Given the description of an element on the screen output the (x, y) to click on. 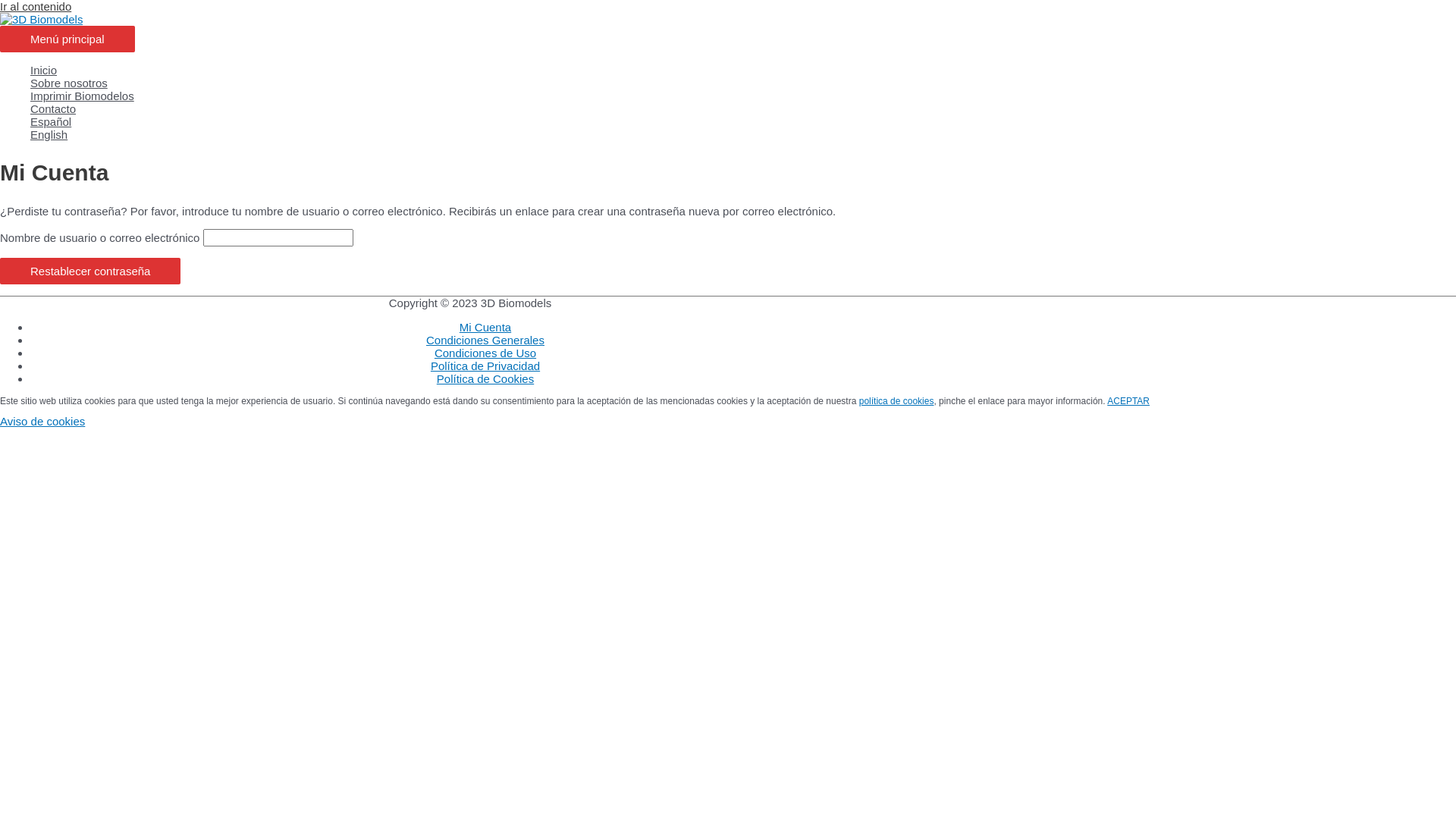
Sobre nosotros Element type: text (485, 82)
Ir al contenido Element type: text (35, 6)
Inicio Element type: text (485, 69)
English Element type: text (485, 134)
Contacto Element type: text (485, 108)
ACEPTAR Element type: text (1128, 400)
Mi Cuenta Element type: text (485, 326)
Condiciones de Uso Element type: text (485, 352)
Aviso de cookies Element type: text (42, 420)
Imprimir Biomodelos Element type: text (485, 95)
Condiciones Generales Element type: text (485, 339)
